Given the description of an element on the screen output the (x, y) to click on. 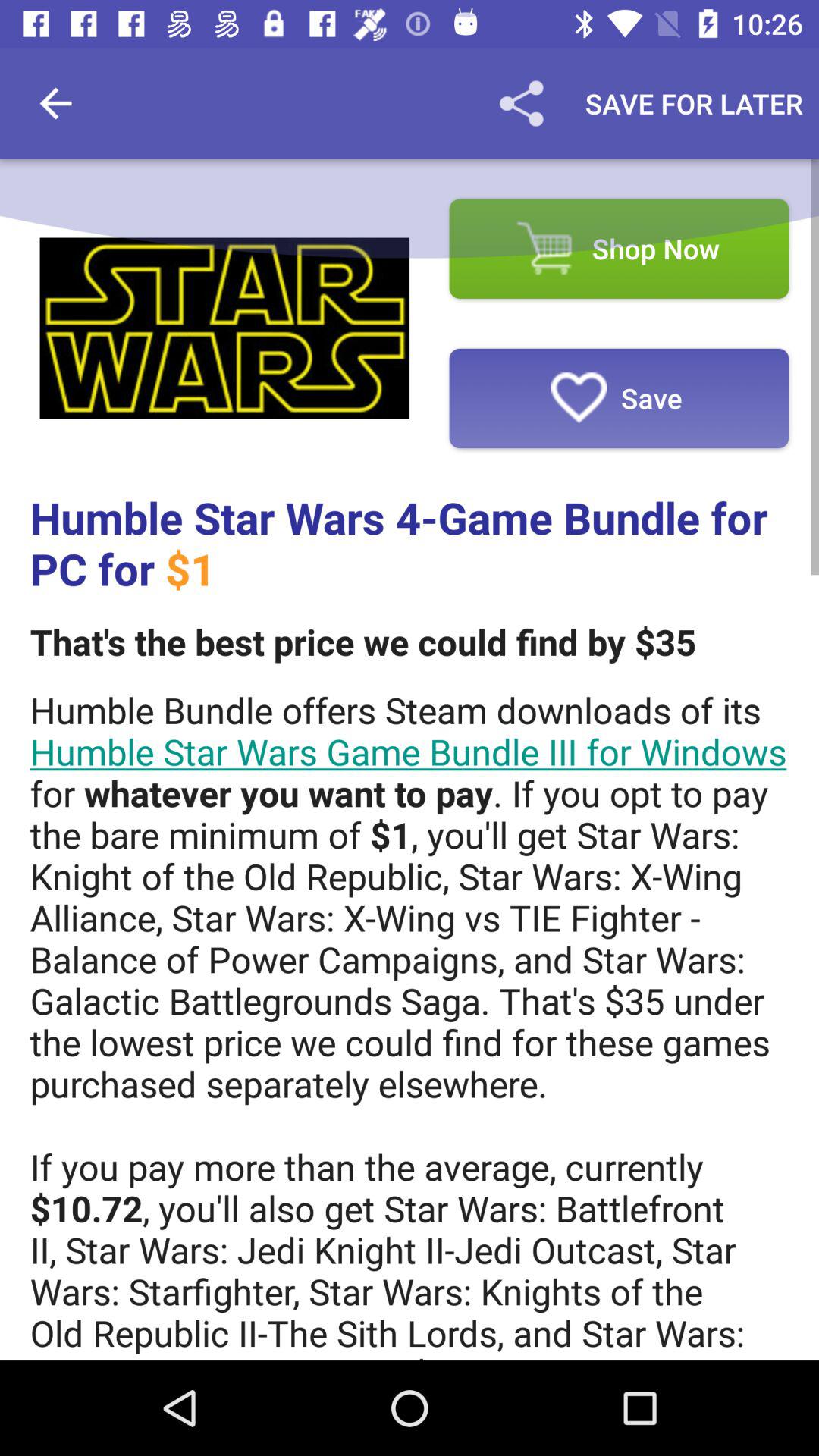
swipe to the that s the (363, 641)
